Given the description of an element on the screen output the (x, y) to click on. 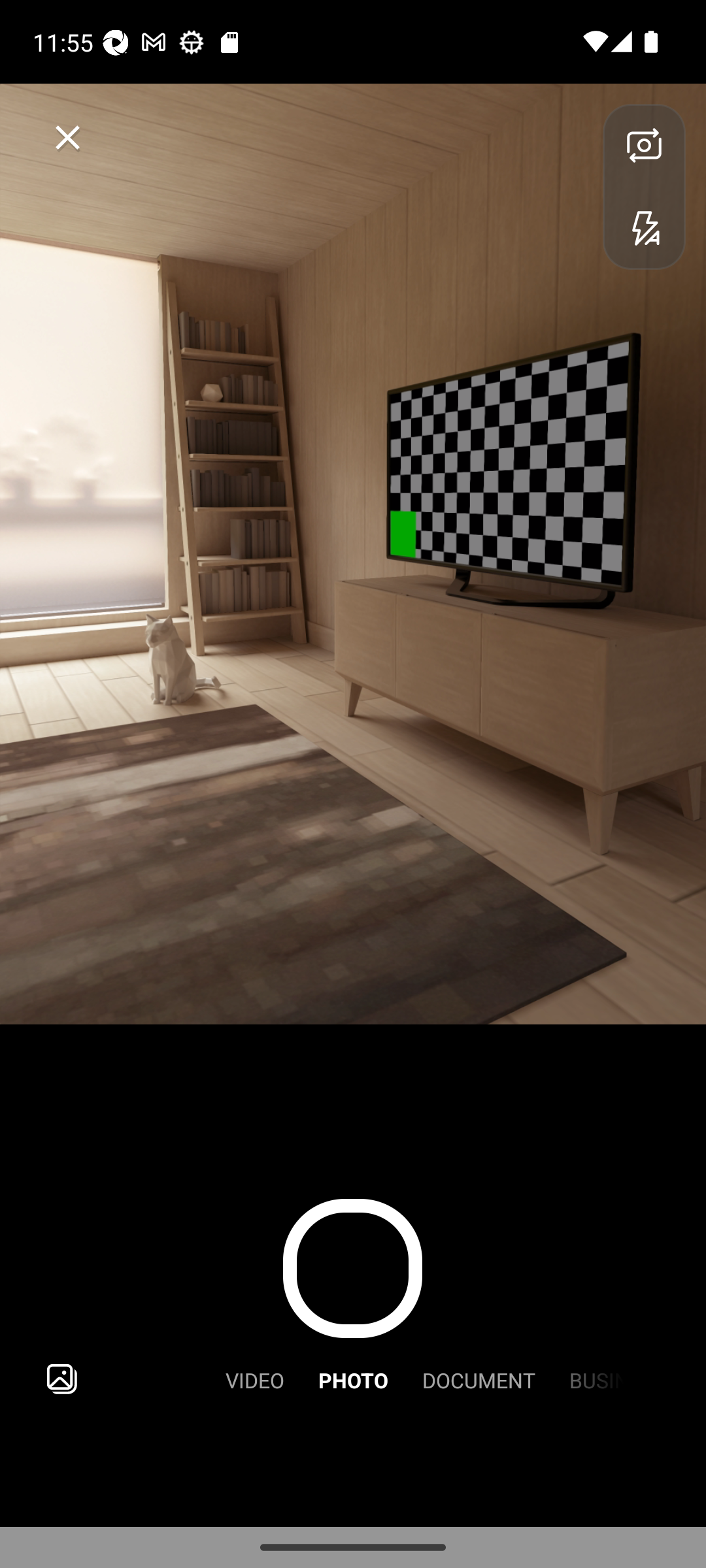
Close (67, 137)
Flip Camera (643, 144)
Flash Auto (643, 227)
Capture (352, 1268)
Import (62, 1378)
VIDEO (254, 1379)
PHOTO (352, 1379)
DOCUMENT (478, 1379)
BUSINESS CARD (589, 1379)
